Given the description of an element on the screen output the (x, y) to click on. 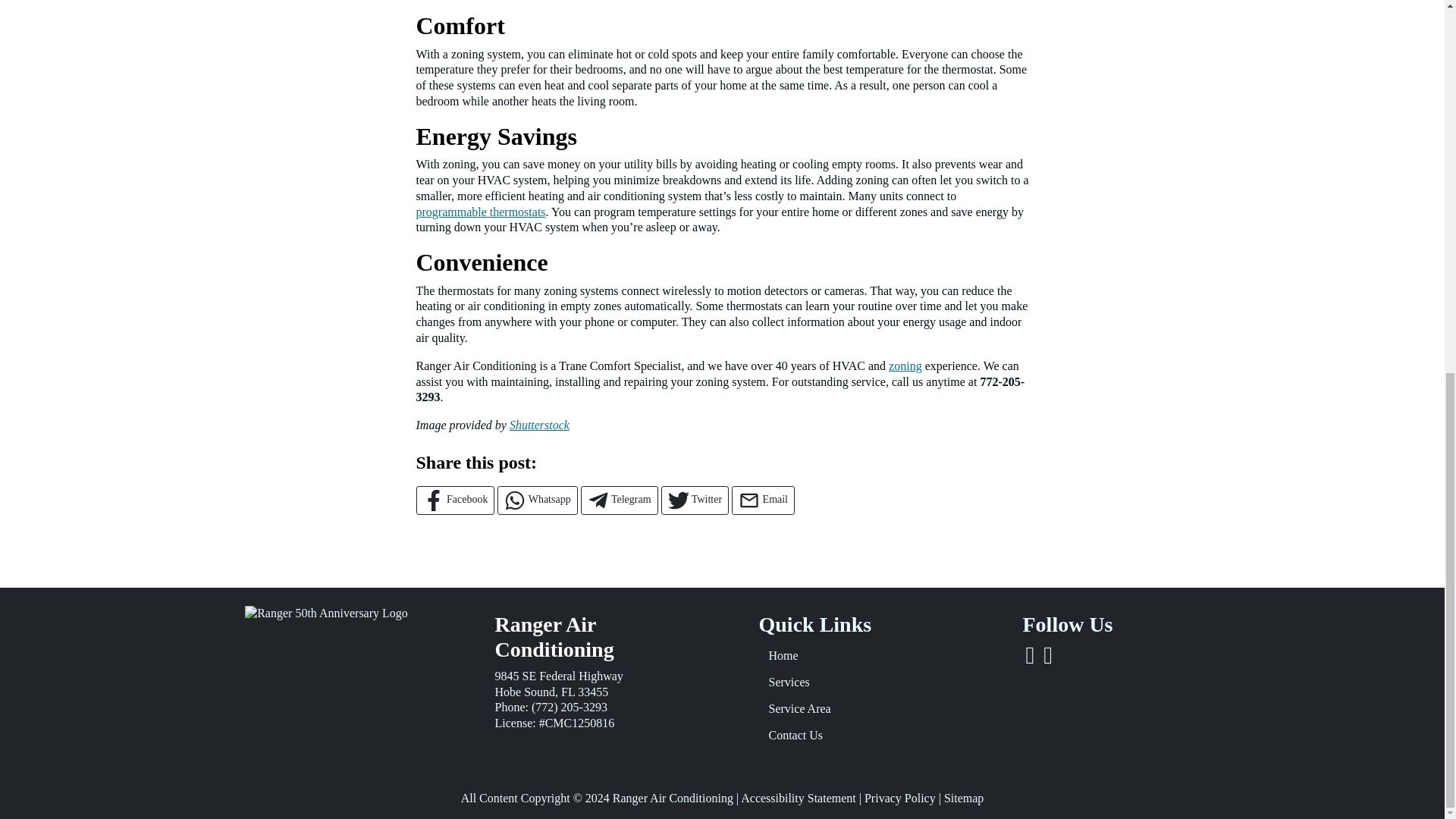
Share on Facebook (454, 500)
Share on Whatsapp (536, 500)
Share via Email (763, 500)
Share on Twitter (695, 500)
Share on Telegram (619, 500)
